Given the description of an element on the screen output the (x, y) to click on. 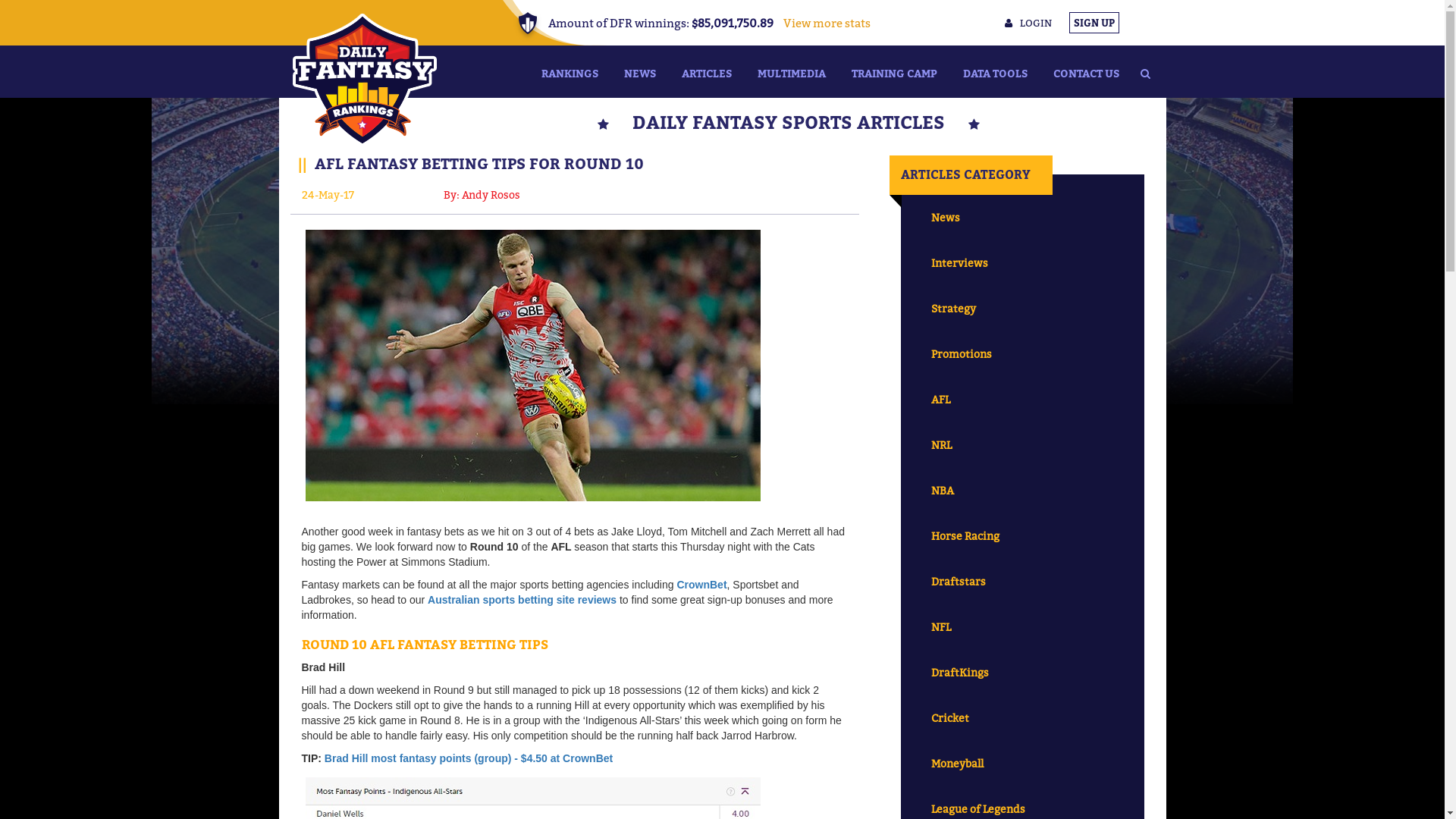
CrownBet Element type: text (701, 584)
Draftstars Element type: text (1022, 581)
AFL Element type: text (1022, 399)
View more stats Element type: text (822, 22)
RANKINGS Element type: text (568, 71)
DraftKings Element type: text (1022, 672)
SIGN UP Element type: text (1094, 22)
Interviews Element type: text (1022, 262)
Promotions Element type: text (1022, 353)
TRAINING CAMP Element type: text (894, 71)
NBA Element type: text (1022, 490)
NRL Element type: text (1022, 444)
MULTIMEDIA Element type: text (791, 71)
ARTICLES Element type: text (706, 71)
DATA TOOLS Element type: text (994, 71)
Horse Racing Element type: text (1022, 535)
Moneyball Element type: text (1022, 763)
Brad Hill most fantasy points (group) - $4.50 at CrownBet Element type: text (468, 758)
Australian sports betting site reviews Element type: text (521, 599)
NFL Element type: text (1022, 626)
News Element type: text (1022, 217)
LOGIN Element type: text (1027, 22)
Cricket Element type: text (1022, 717)
NEWS Element type: text (639, 71)
CONTACT US Element type: text (1086, 71)
Strategy Element type: text (1022, 308)
